Given the description of an element on the screen output the (x, y) to click on. 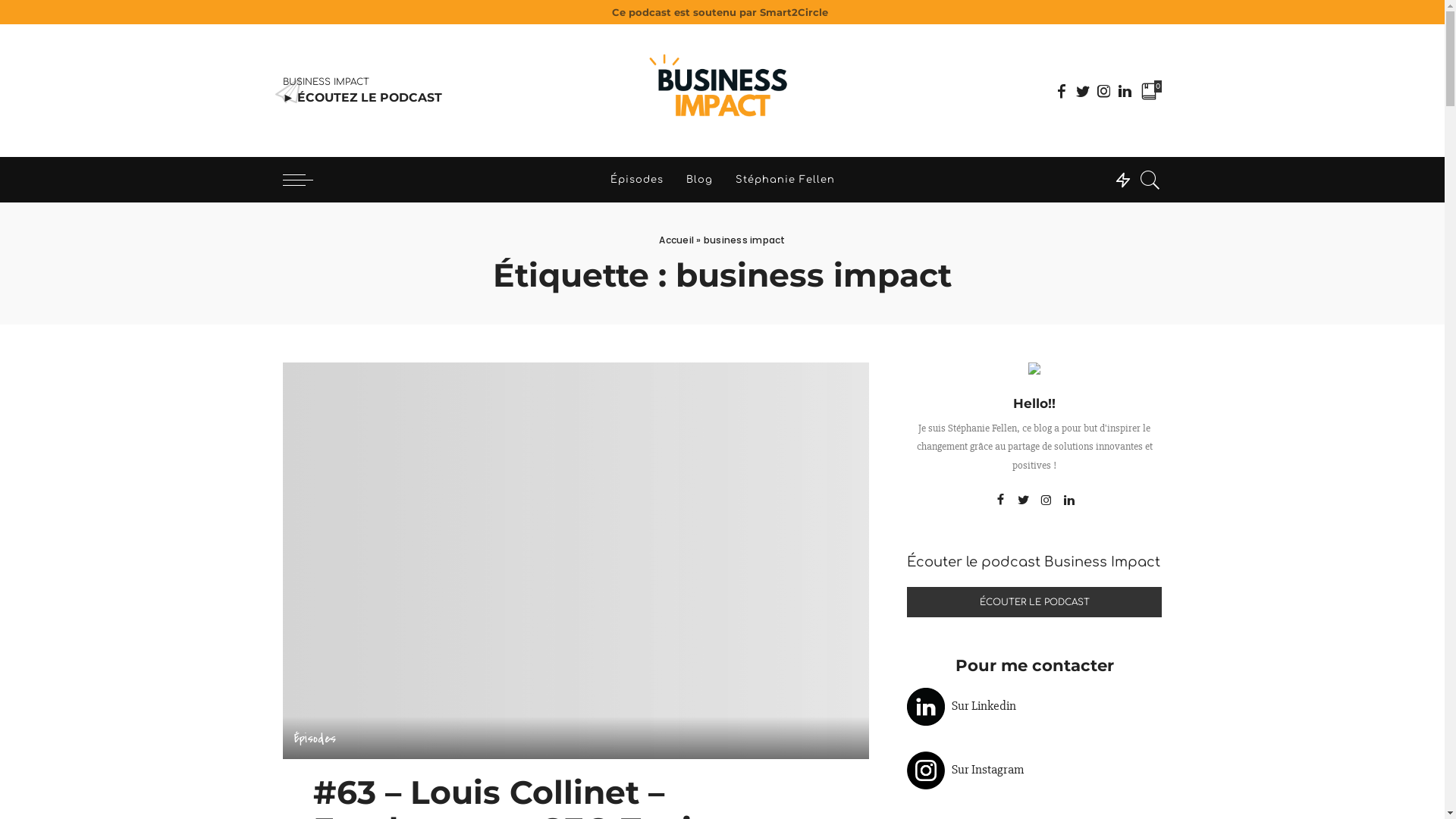
  Sur Instagram Element type: text (985, 769)
Rechercher Element type: text (1140, 30)
  Sur Linkedin Element type: text (981, 705)
Accueil Element type: text (675, 239)
Search Element type: hover (1149, 179)
Rechercher Element type: text (1140, 233)
0 Element type: text (1150, 90)
Blog Element type: text (699, 179)
Ce podcast est soutenu par Smart2Circle Element type: text (721, 12)
